Given the description of an element on the screen output the (x, y) to click on. 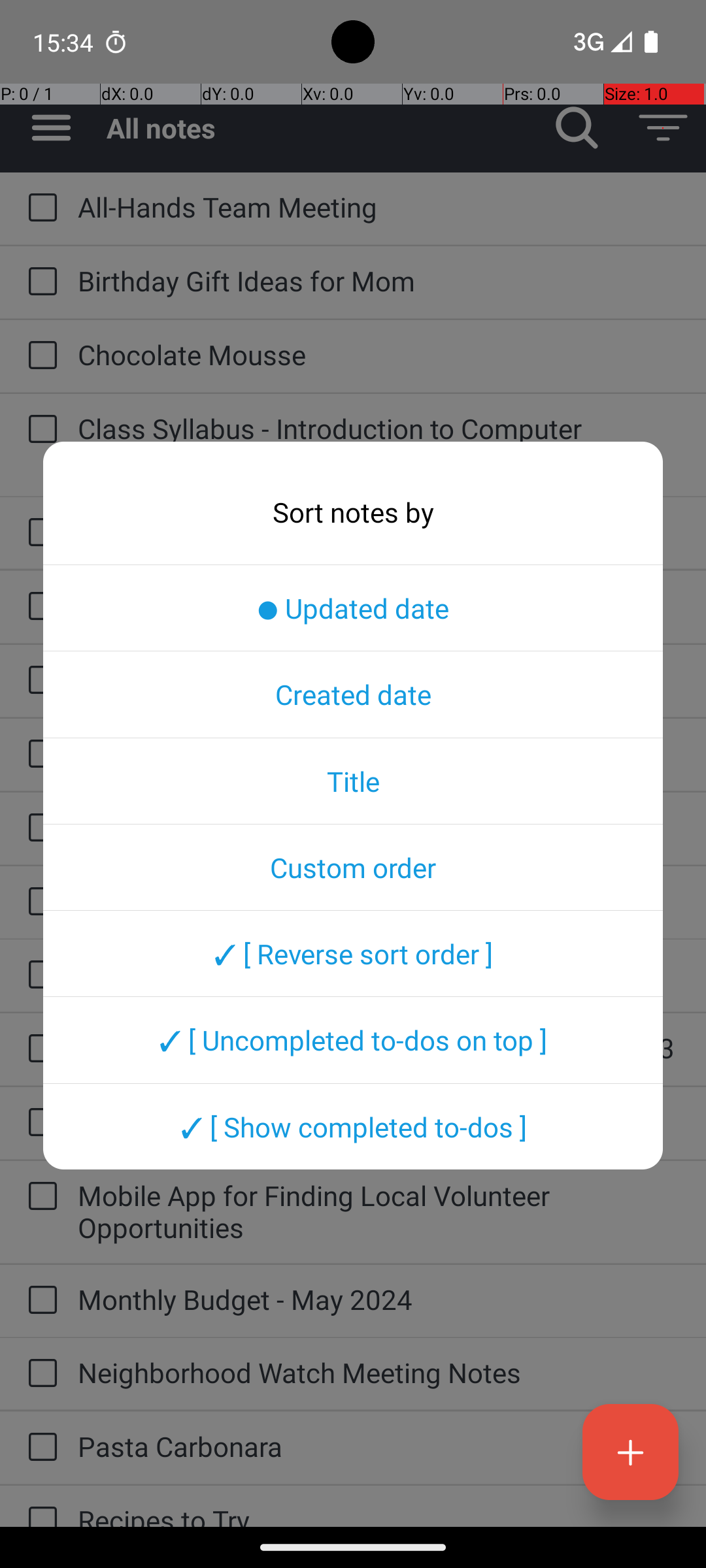
⬤ Updated date Element type: android.widget.TextView (352, 607)
Created date Element type: android.widget.TextView (352, 693)
Custom order Element type: android.widget.TextView (352, 866)
✓ [ Reverse sort order ] Element type: android.widget.TextView (352, 953)
✓ [ Uncompleted to-dos on top ] Element type: android.widget.TextView (352, 1039)
✓ [ Show completed to-dos ] Element type: android.widget.TextView (352, 1126)
to-do: Birthday Gift Ideas for Mom Element type: android.widget.CheckBox (38, 282)
to-do: Chocolate Mousse Element type: android.widget.CheckBox (38, 356)
Chocolate Mousse Element type: android.widget.TextView (378, 354)
to-do: Class Syllabus - Introduction to Computer Science Element type: android.widget.CheckBox (38, 429)
Class Syllabus - Introduction to Computer Science Element type: android.widget.TextView (378, 443)
to-do: Debt Repayment Plan Element type: android.widget.CheckBox (38, 606)
to-do: Favorite Recipes Element type: android.widget.CheckBox (38, 680)
Favorite Recipes Element type: android.widget.TextView (378, 678)
to-do: Flashcards - Spanish Vocabulary Element type: android.widget.CheckBox (38, 828)
Flashcards - Spanish Vocabulary Element type: android.widget.TextView (378, 826)
to-do: Holiday Party Planning Meeting - December 2023 Element type: android.widget.CheckBox (38, 1049)
Holiday Party Planning Meeting - December 2023 Element type: android.widget.TextView (378, 1047)
to-do: Home Improvement Element type: android.widget.CheckBox (38, 1123)
Home Improvement Element type: android.widget.TextView (378, 1121)
to-do: Monthly Budget - May 2024 Element type: android.widget.CheckBox (38, 1300)
Monthly Budget - May 2024 Element type: android.widget.TextView (378, 1298)
to-do: Neighborhood Watch Meeting Notes Element type: android.widget.CheckBox (38, 1373)
Neighborhood Watch Meeting Notes Element type: android.widget.TextView (378, 1371)
to-do: Pasta Carbonara Element type: android.widget.CheckBox (38, 1447)
Pasta Carbonara Element type: android.widget.TextView (378, 1445)
to-do: Recipes to Try Element type: android.widget.CheckBox (38, 1505)
Recipes to Try Element type: android.widget.TextView (378, 1513)
